Given the description of an element on the screen output the (x, y) to click on. 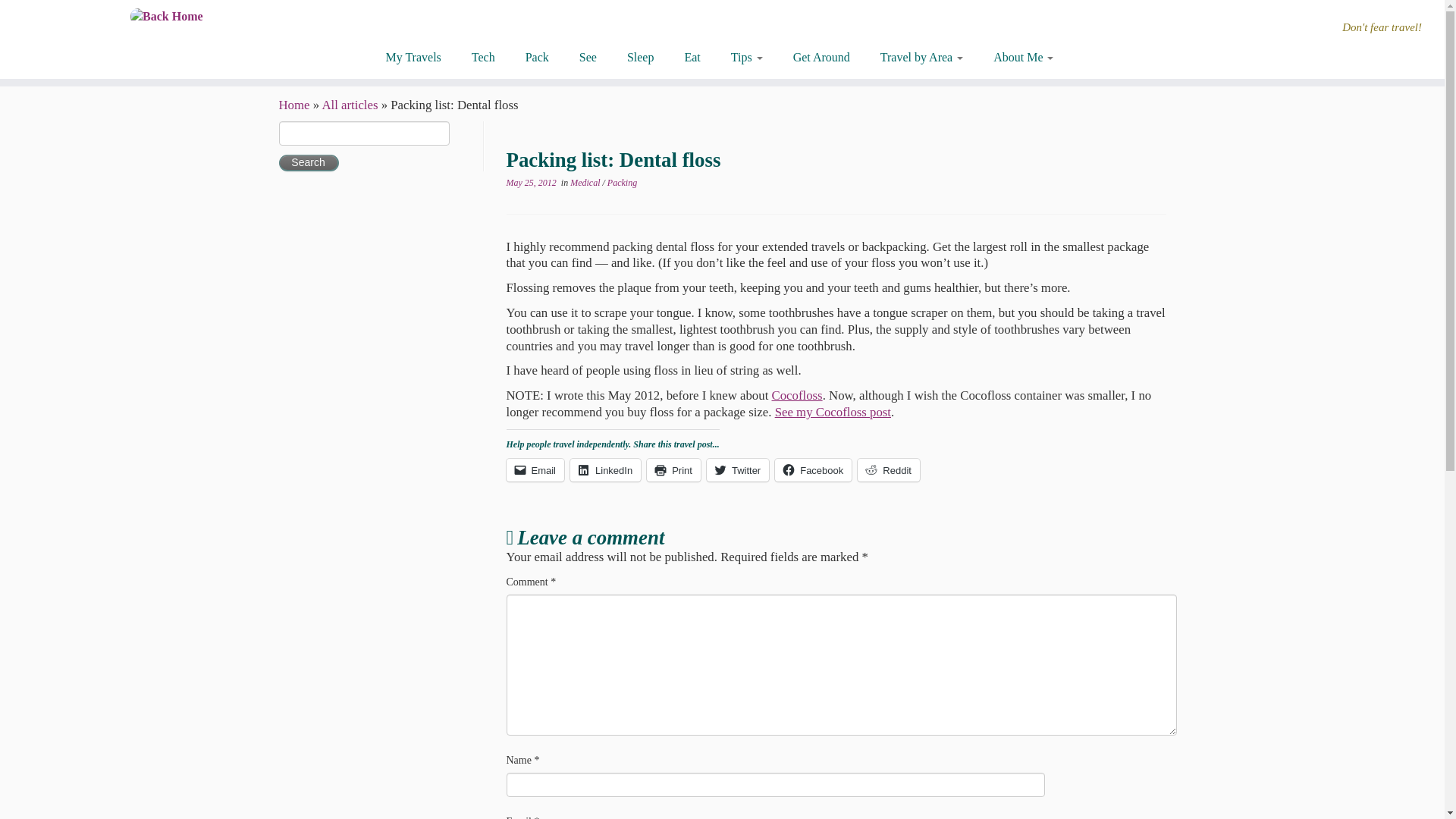
Travel by Area (921, 57)
Search (309, 162)
My Travels (418, 57)
Click to share on LinkedIn (605, 469)
Sleep (640, 57)
Pack (537, 57)
About Me (1015, 57)
Home (294, 104)
Eat (691, 57)
May 25, 2012 (531, 182)
Click to email a link to a friend (535, 469)
Click to share on Twitter (737, 469)
Click to print (673, 469)
